Given the description of an element on the screen output the (x, y) to click on. 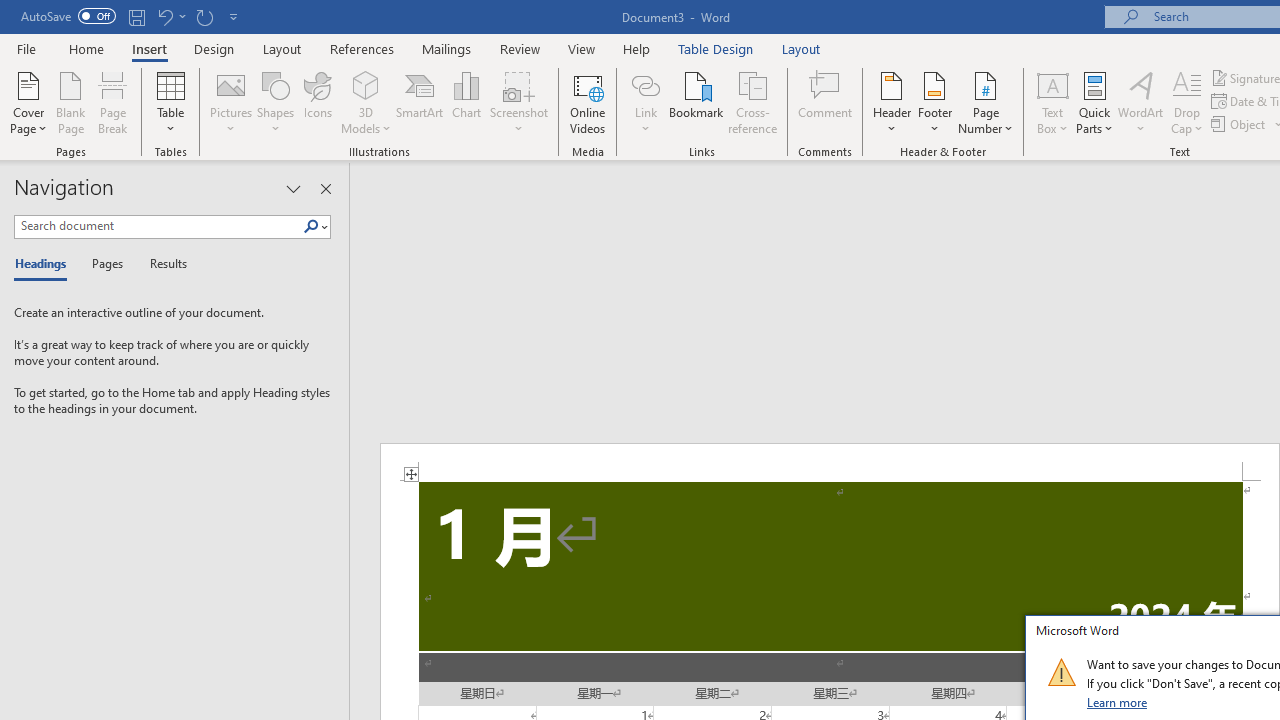
Page Break (113, 102)
Header -Section 1- (830, 461)
Online Videos... (588, 102)
Link (645, 84)
SmartArt... (419, 102)
3D Models (366, 84)
Pictures (230, 102)
Table (170, 102)
